Given the description of an element on the screen output the (x, y) to click on. 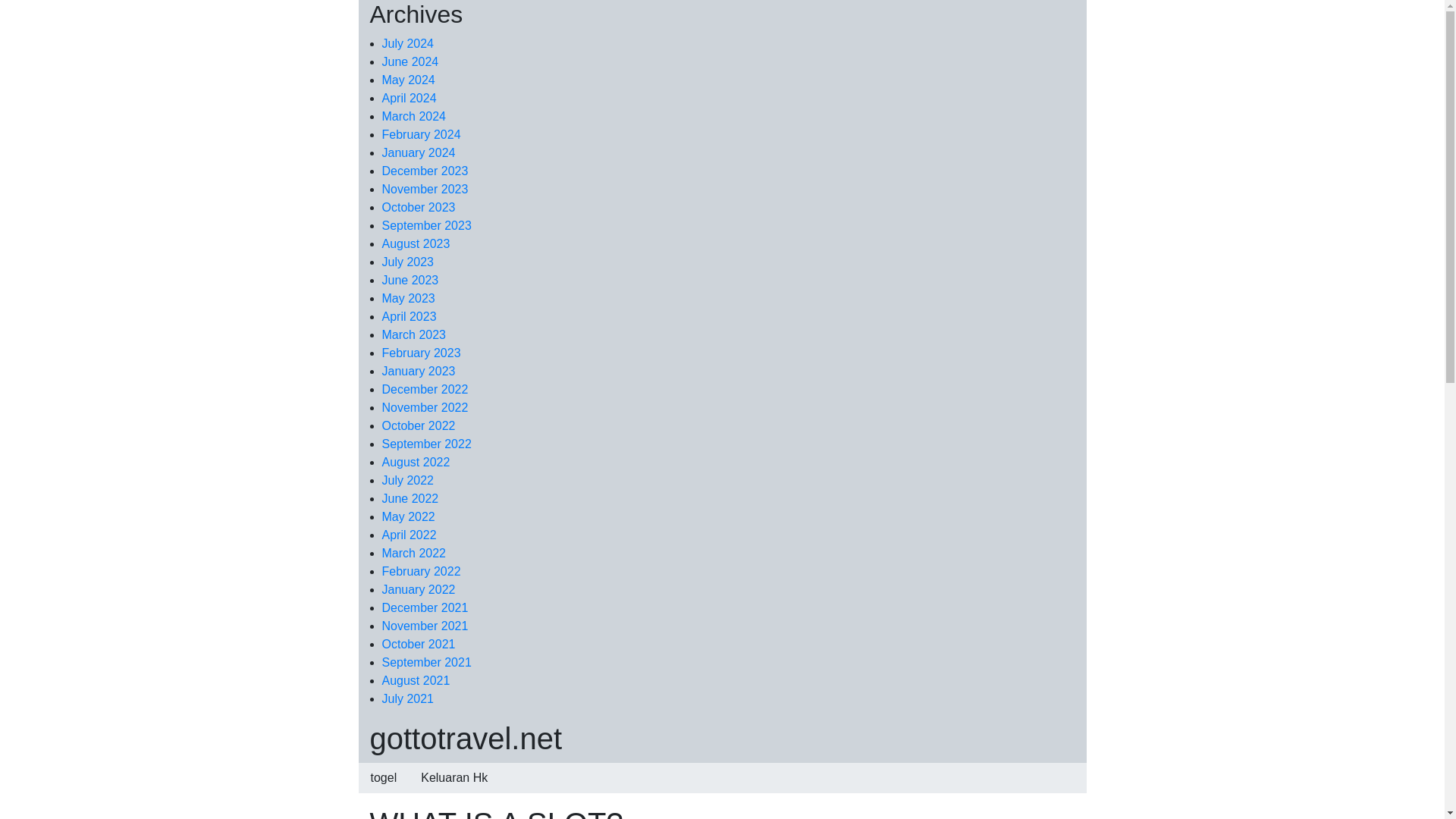
August 2023 (415, 243)
July 2024 (407, 42)
January 2023 (418, 370)
December 2023 (424, 170)
August 2022 (415, 461)
May 2023 (408, 297)
February 2024 (421, 133)
July 2022 (407, 480)
September 2022 (426, 443)
October 2022 (418, 425)
September 2023 (426, 225)
January 2022 (418, 589)
June 2024 (410, 61)
January 2024 (418, 152)
June 2022 (410, 498)
